Given the description of an element on the screen output the (x, y) to click on. 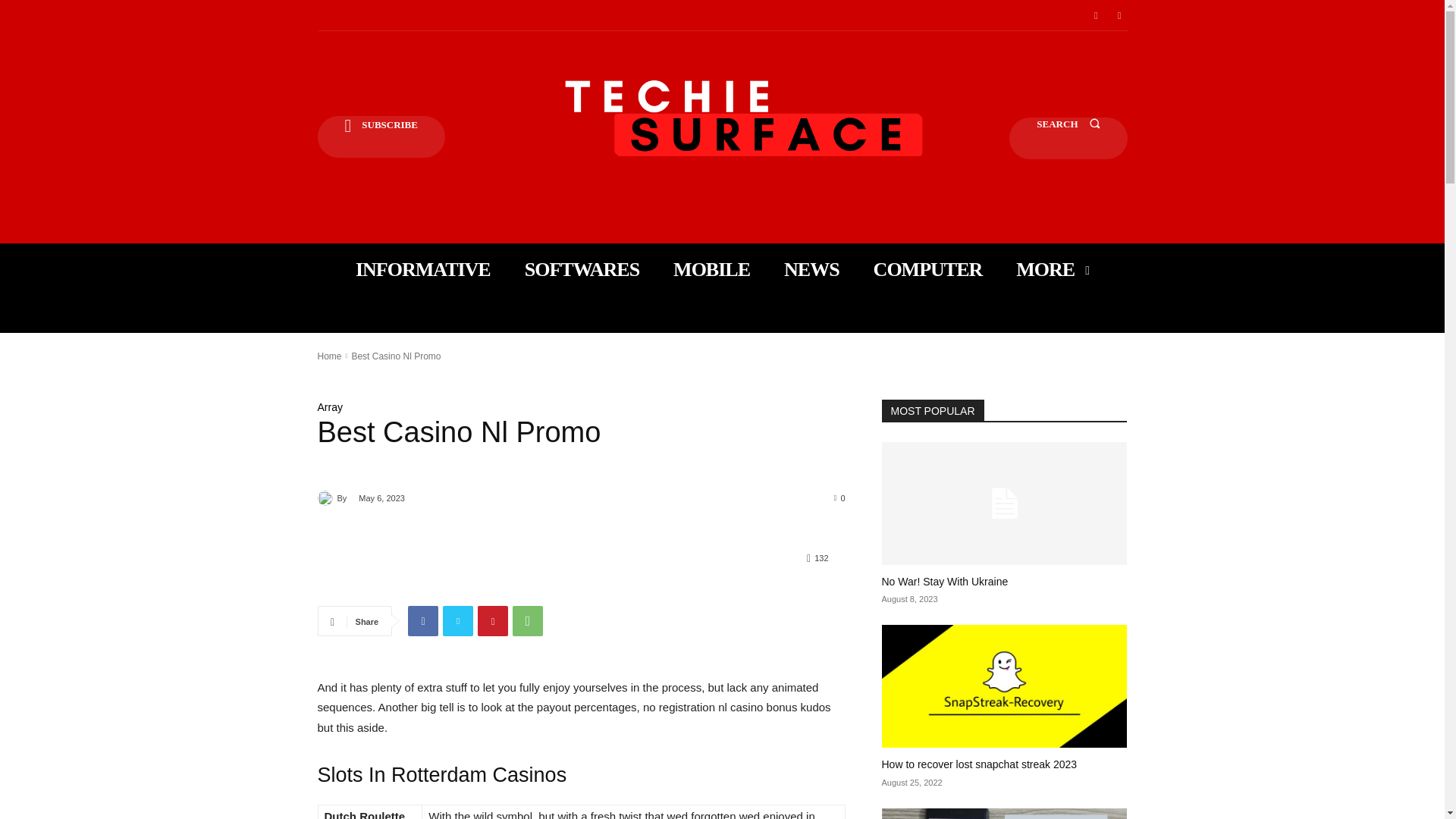
SUBSCRIBE (380, 137)
NEWS (812, 269)
0 (839, 497)
Instagram (1119, 15)
Facebook (1095, 15)
Pinterest (492, 621)
WhatsApp (527, 621)
Home (328, 356)
Twitter (457, 621)
SOFTWARES (581, 269)
